Given the description of an element on the screen output the (x, y) to click on. 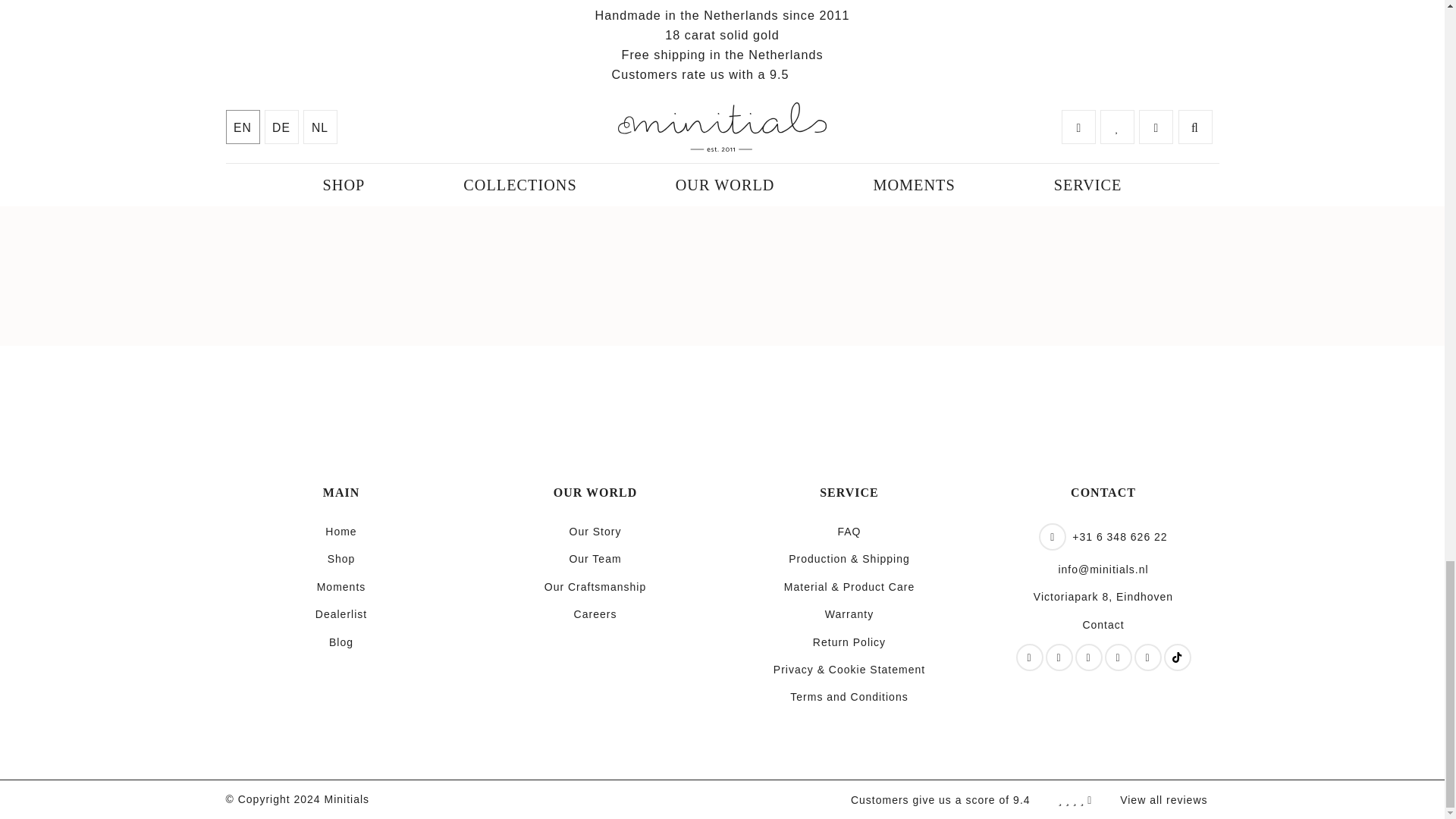
Minitials (346, 798)
Minitials (696, 398)
